Given the description of an element on the screen output the (x, y) to click on. 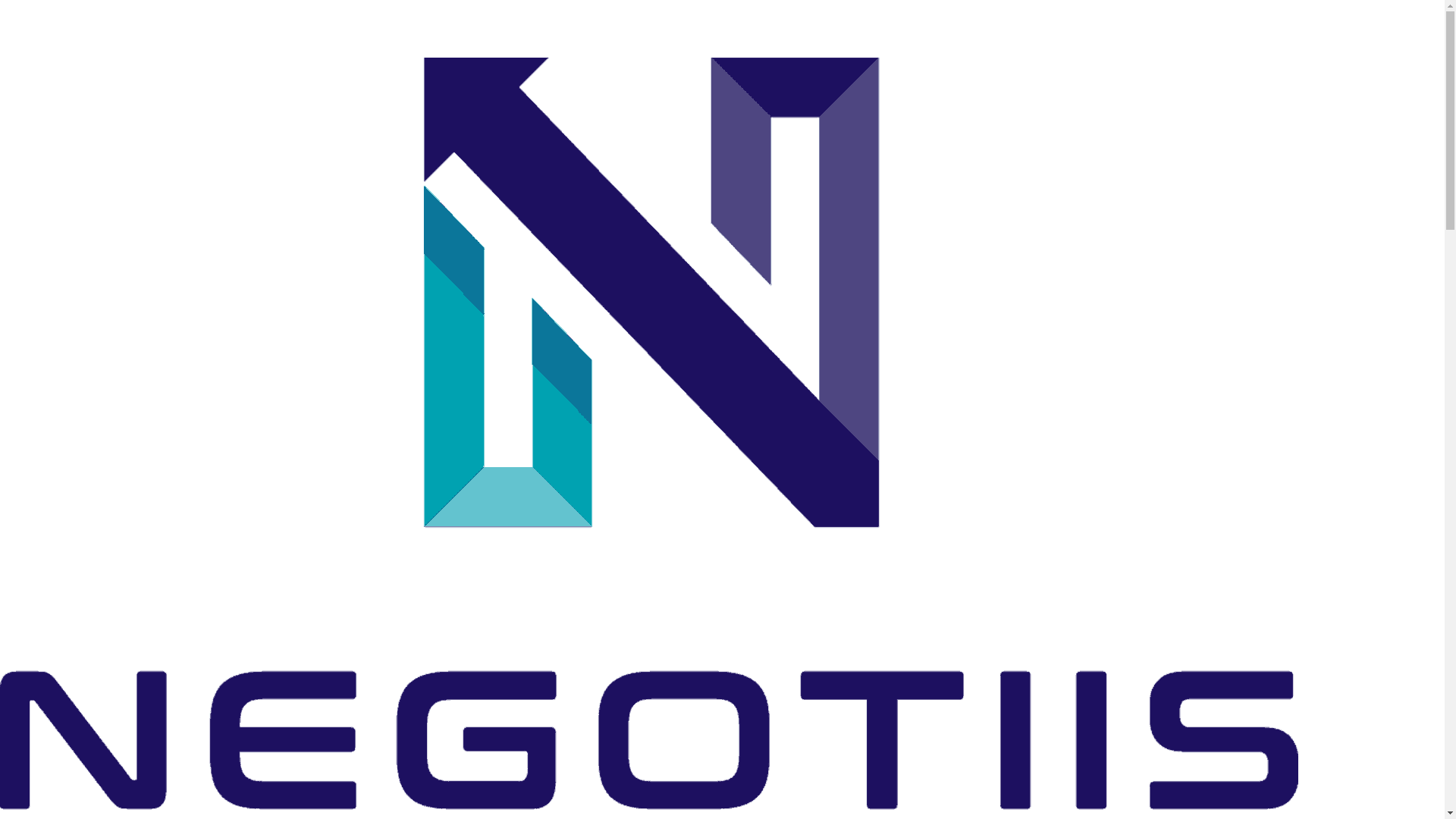
info@negotiis.com.au Element type: text (47, 38)
(03) 9394 7024 Element type: text (32, 15)
